Given the description of an element on the screen output the (x, y) to click on. 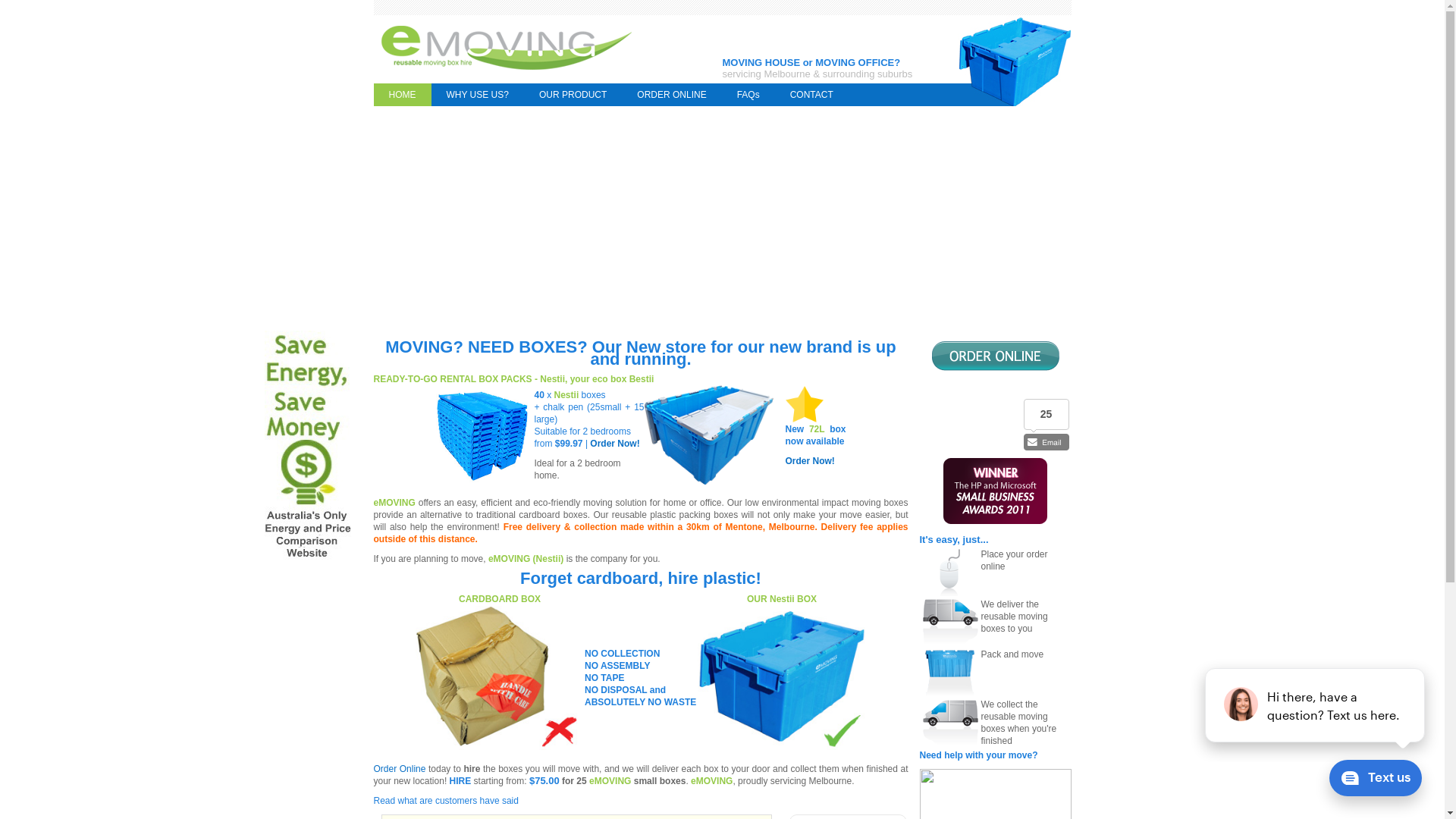
FAQs Element type: text (748, 94)
Order Now! Element type: text (614, 443)
Order Online Element type: text (399, 768)
CONTACT Element type: text (811, 94)
Order Now! Element type: text (809, 460)
ORDER ONLINE Element type: text (671, 94)
podium webchat widget prompt Element type: hover (1315, 705)
HOME Element type: text (401, 94)
WHY USE US? Element type: text (476, 94)
OUR PRODUCT Element type: text (572, 94)
